Given the description of an element on the screen output the (x, y) to click on. 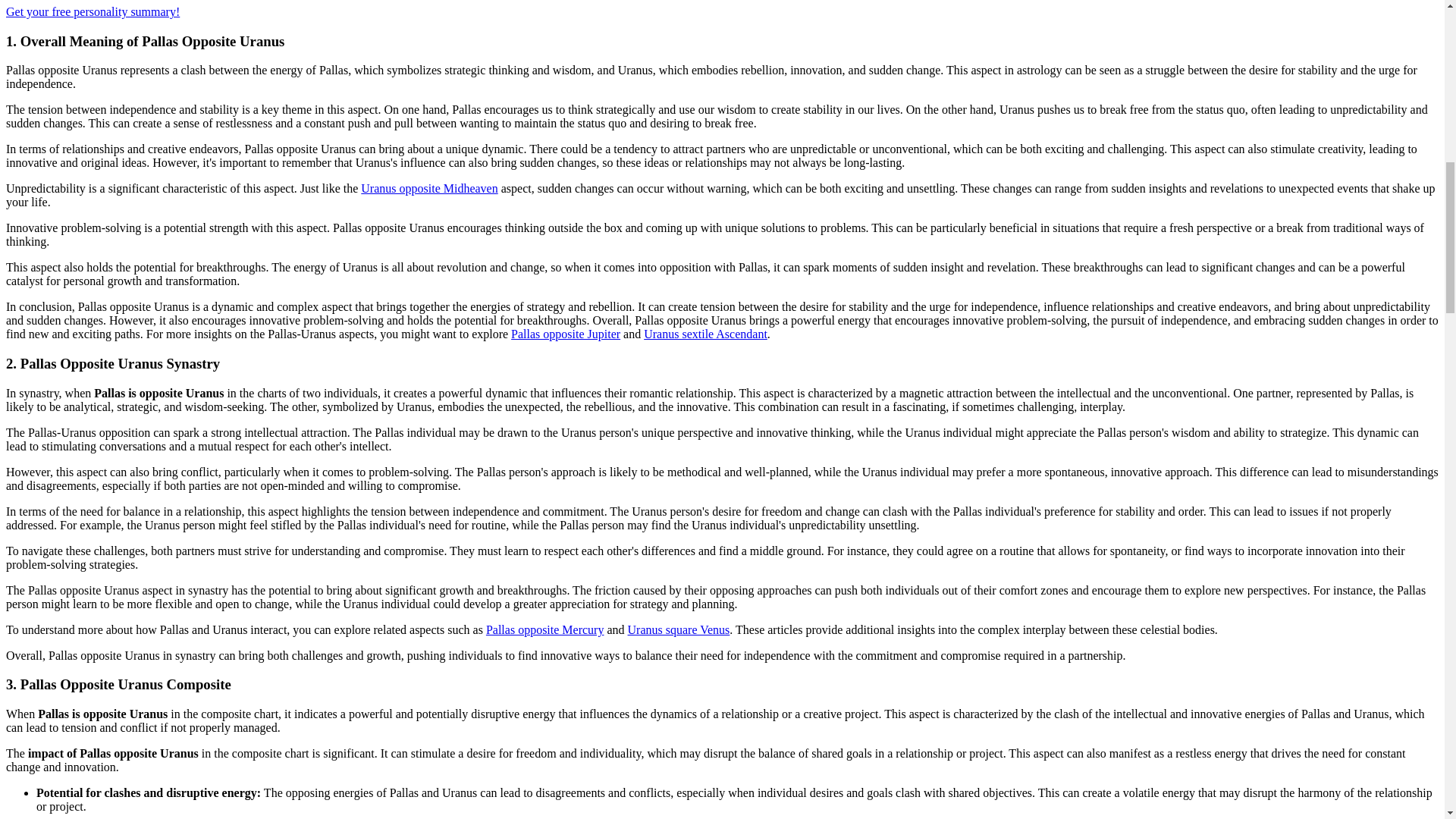
Uranus sextile Ascendant (705, 333)
Pallas opposite Jupiter (565, 333)
Pallas opposite Mercury (545, 629)
Get your free personality summary! (92, 11)
Uranus opposite Midheaven (429, 187)
Uranus square Venus (678, 629)
